Given the description of an element on the screen output the (x, y) to click on. 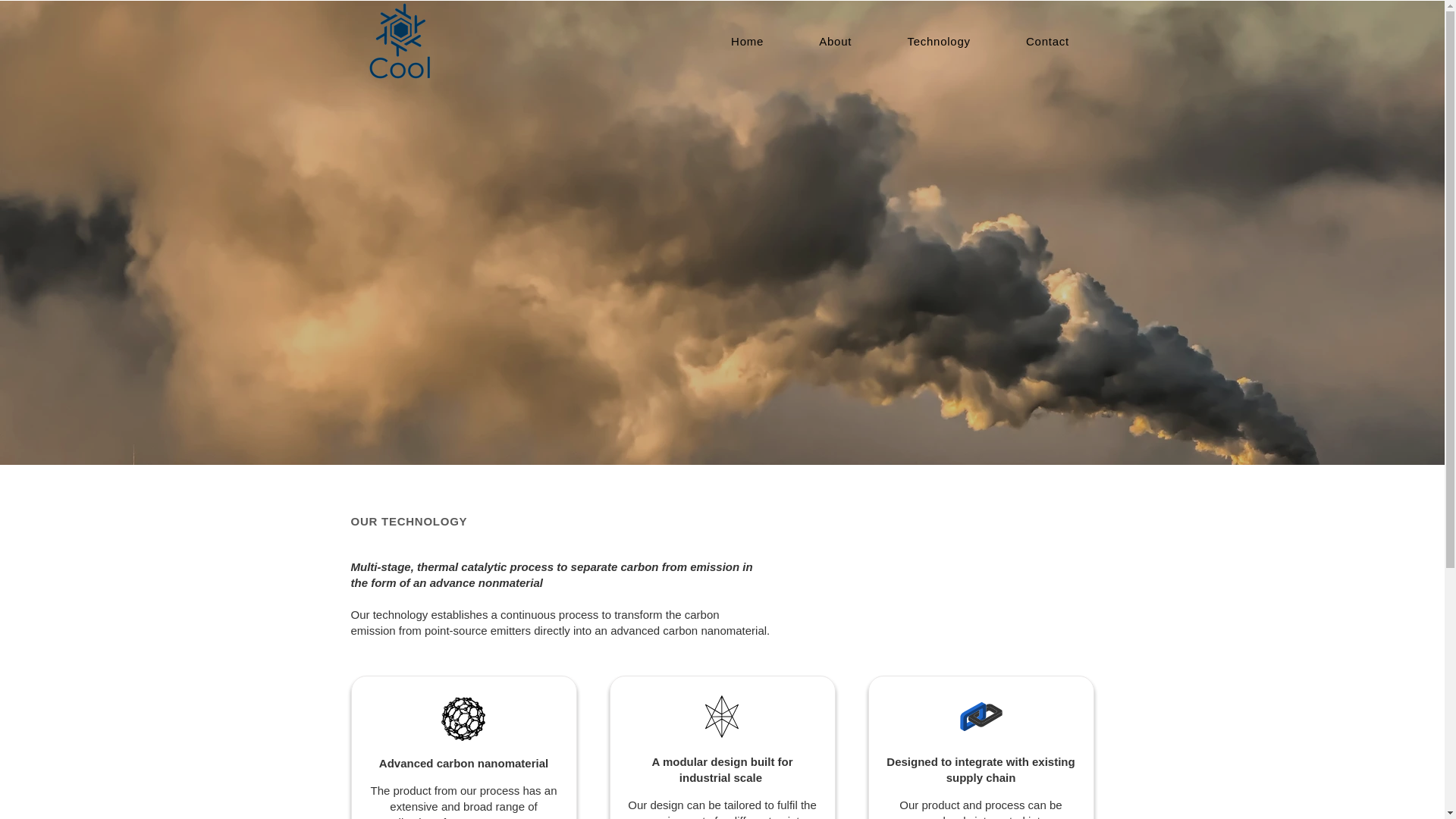
Home (747, 41)
Logo Blue.png (399, 42)
Contact (1047, 41)
About (835, 41)
Technology (938, 41)
